Given the description of an element on the screen output the (x, y) to click on. 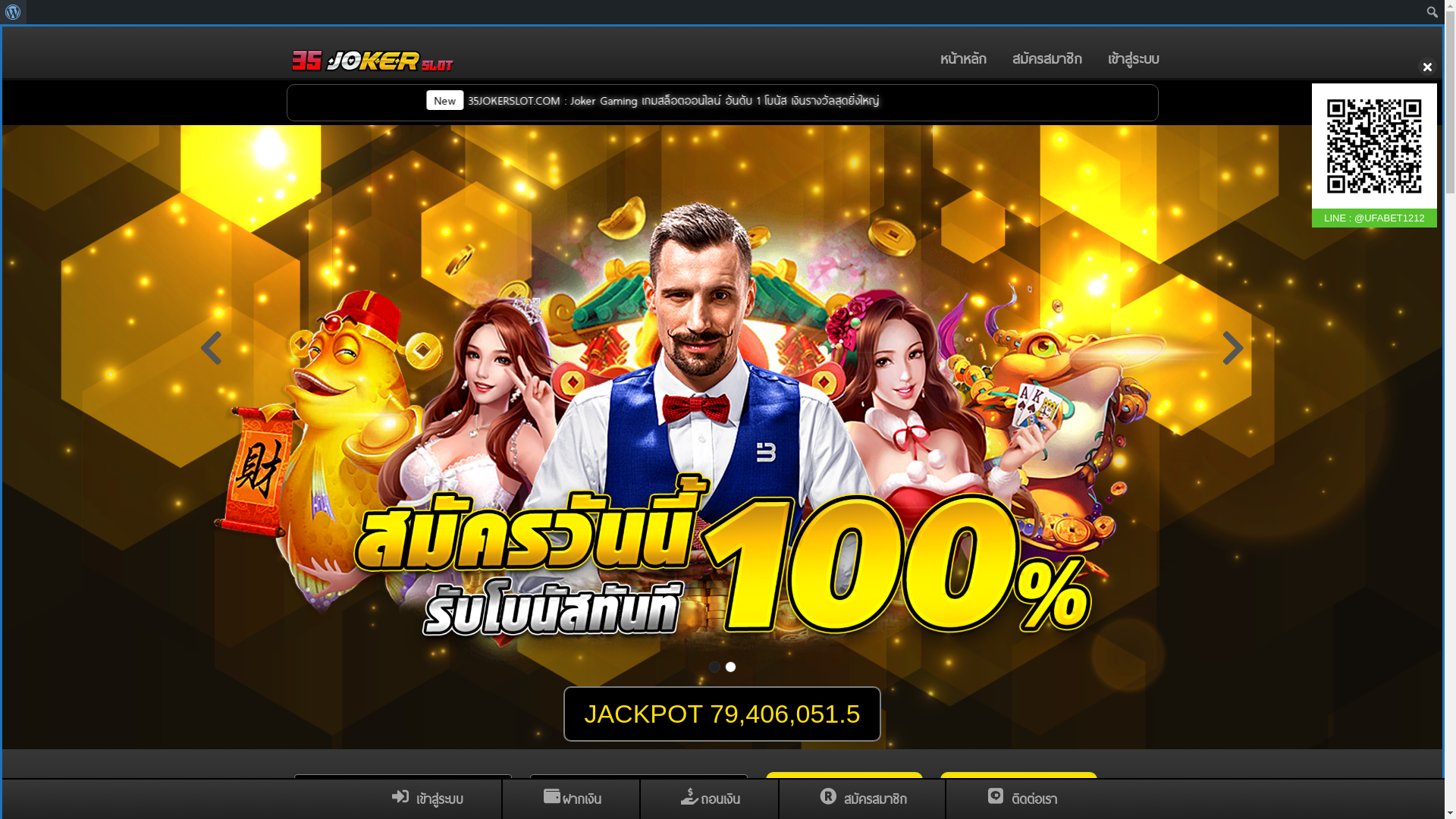
Search Element type: text (16, 13)
LINE : @UFABET1212 Element type: text (1374, 155)
